Given the description of an element on the screen output the (x, y) to click on. 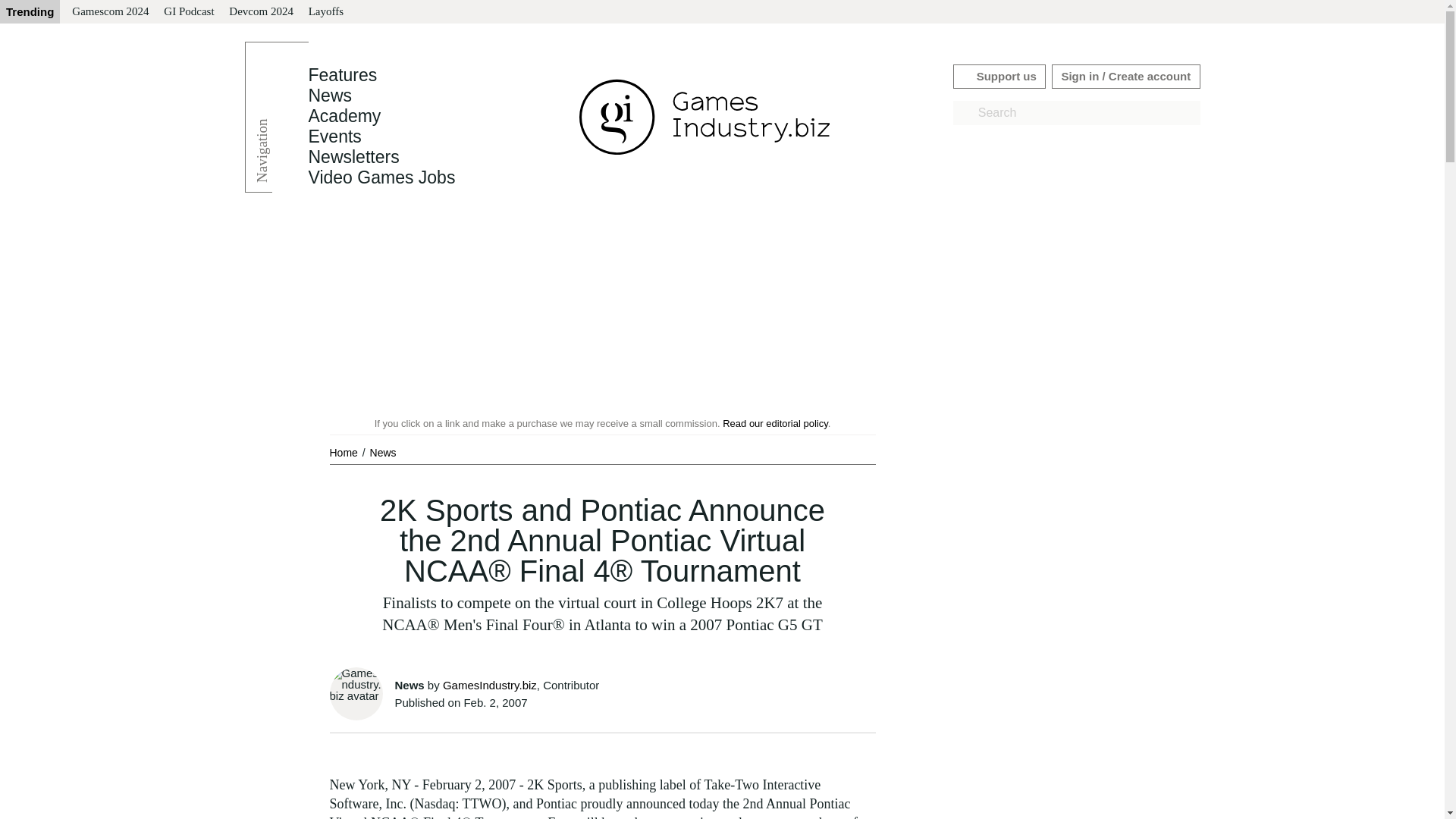
News (329, 95)
GamesIndustry.biz (489, 684)
Events (334, 136)
Home (344, 452)
News (329, 95)
GI Podcast (188, 11)
Layoffs (325, 11)
Read our editorial policy (775, 423)
News (382, 452)
Video Games Jobs (380, 177)
